Given the description of an element on the screen output the (x, y) to click on. 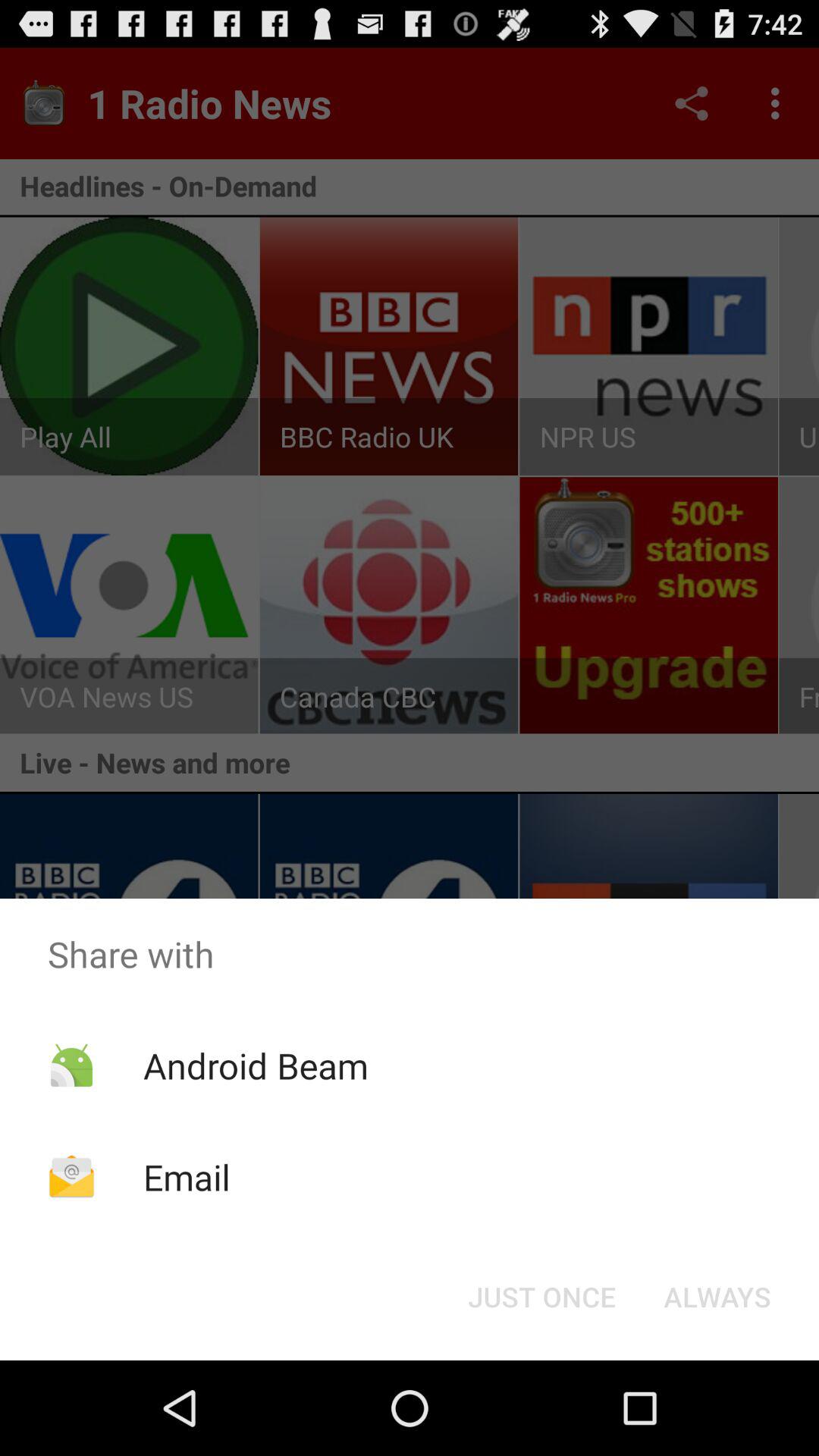
launch icon at the bottom right corner (717, 1296)
